Given the description of an element on the screen output the (x, y) to click on. 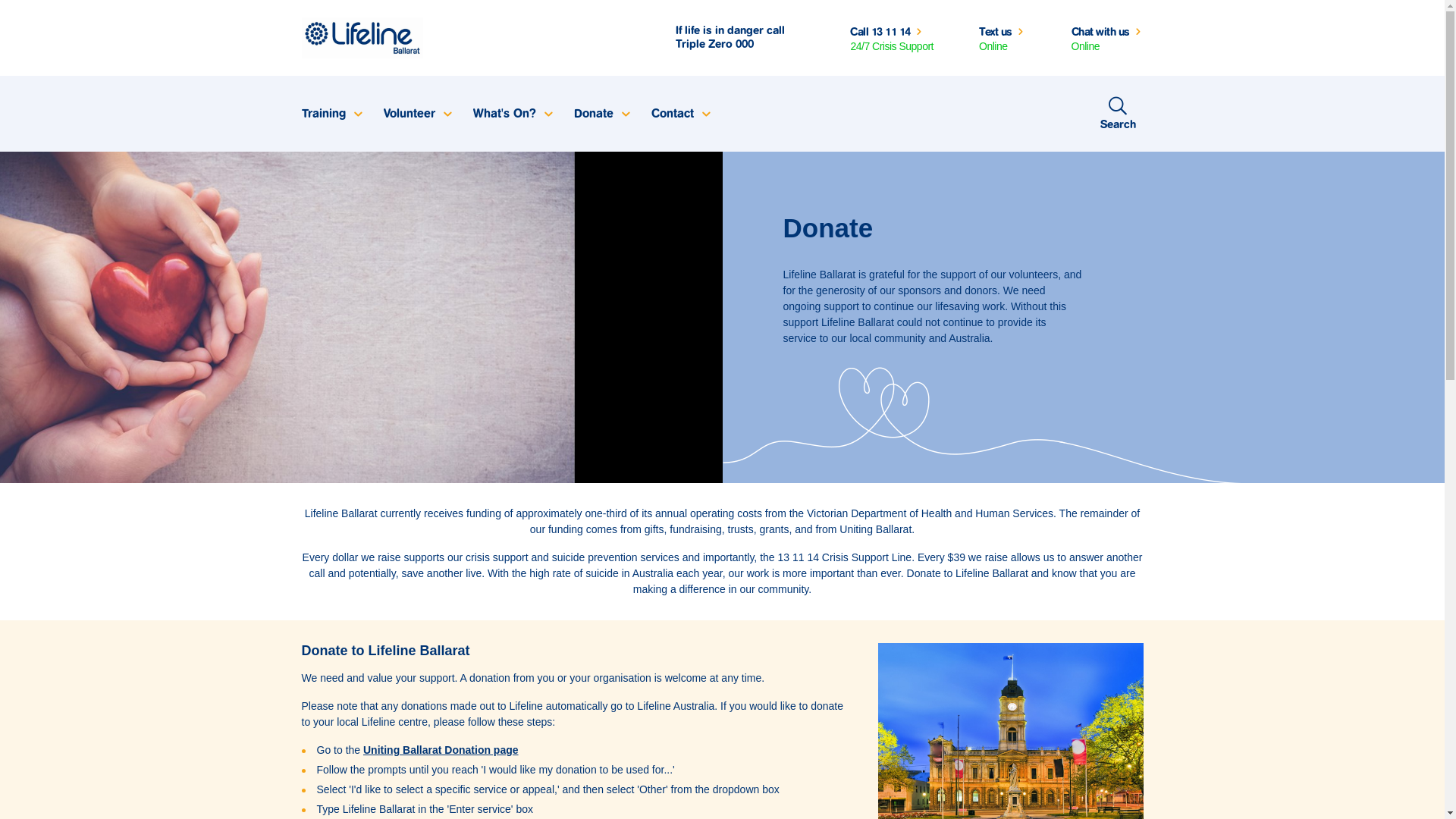
Search Element type: text (1117, 113)
Training Element type: text (330, 113)
Call 13 11 14
24/7 Crisis Support Element type: text (891, 38)
Text us
Online Element type: text (1002, 38)
Contact Element type: text (680, 113)
Volunteer Element type: text (416, 113)
Chat with us
Online Element type: text (1106, 38)
Donate Element type: text (601, 113)
000 Element type: text (744, 44)
Uniting Ballarat Donation page Element type: text (440, 749)
What's On? Element type: text (511, 113)
